Given the description of an element on the screen output the (x, y) to click on. 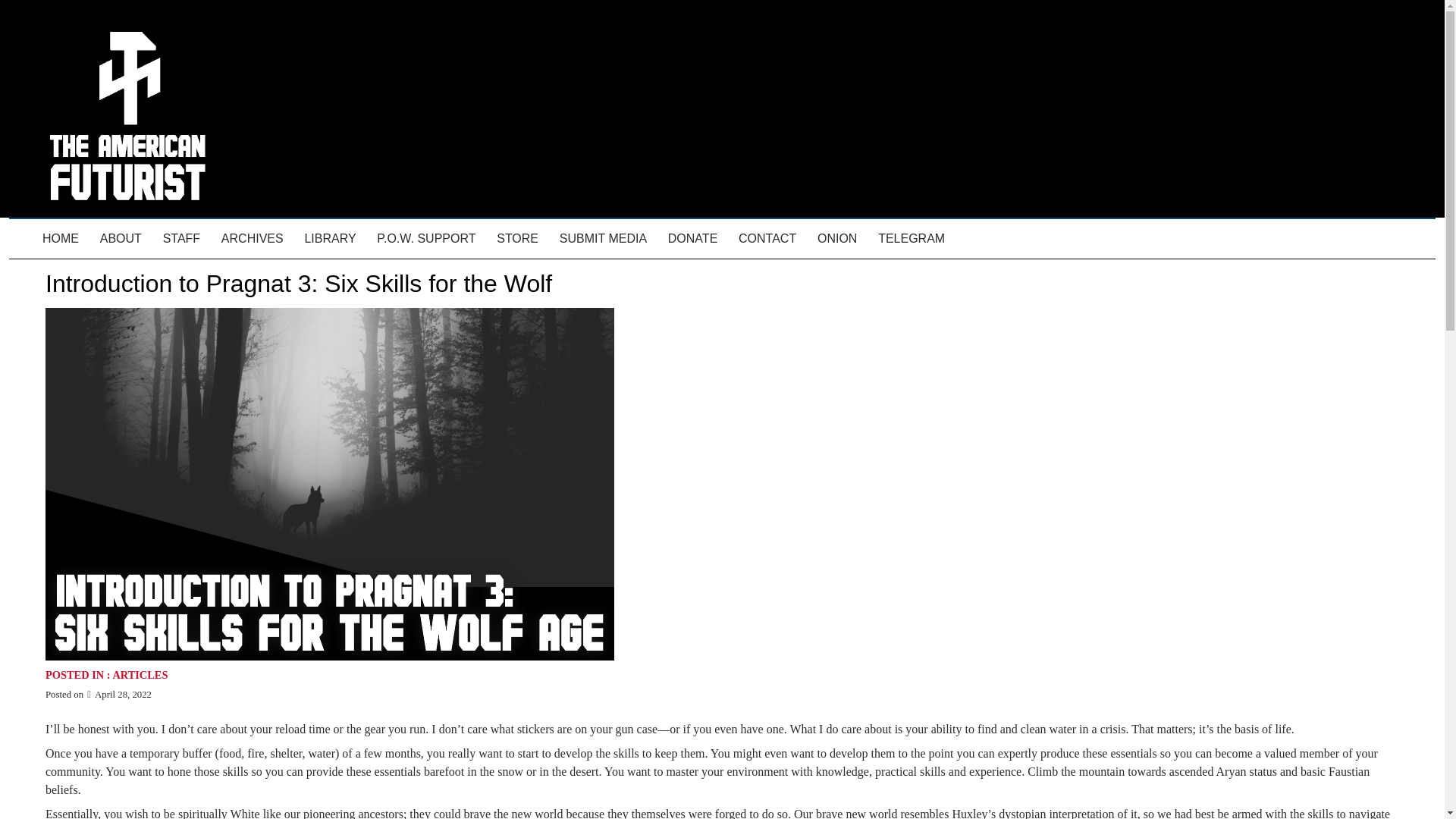
DONATE (692, 238)
STORE (517, 238)
ABOUT (120, 238)
CONTACT (767, 238)
HOME (60, 238)
April 28, 2022 (118, 694)
ONION (837, 238)
STAFF (181, 238)
ARCHIVES (252, 238)
ARTICLES (139, 674)
TELEGRAM (911, 238)
SUBMIT MEDIA (603, 238)
The American Futurist (126, 231)
P.O.W. SUPPORT (426, 238)
LIBRARY (330, 238)
